Given the description of an element on the screen output the (x, y) to click on. 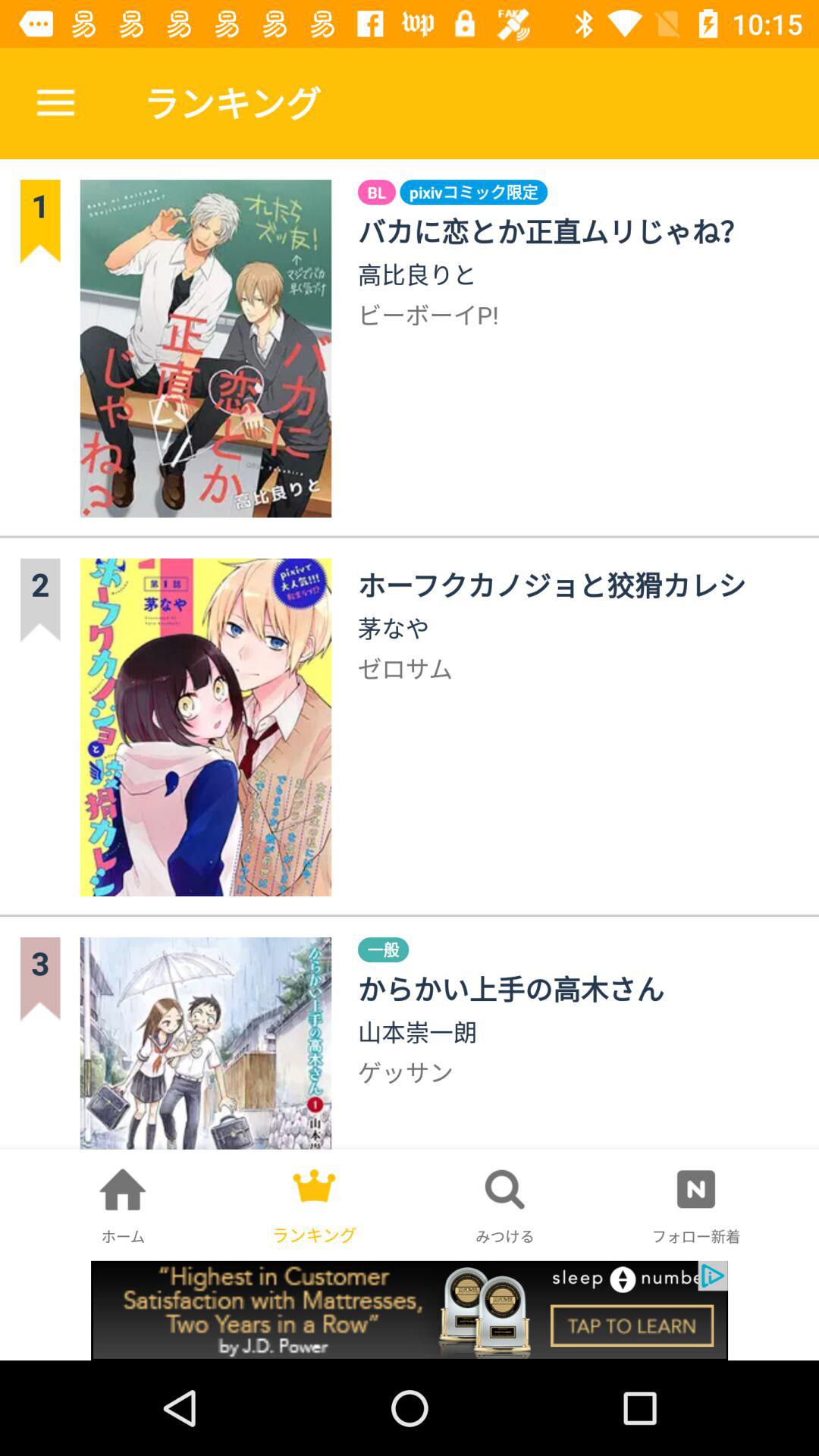
click on the number 1 (40, 223)
click on the second image in second row (205, 727)
